Given the description of an element on the screen output the (x, y) to click on. 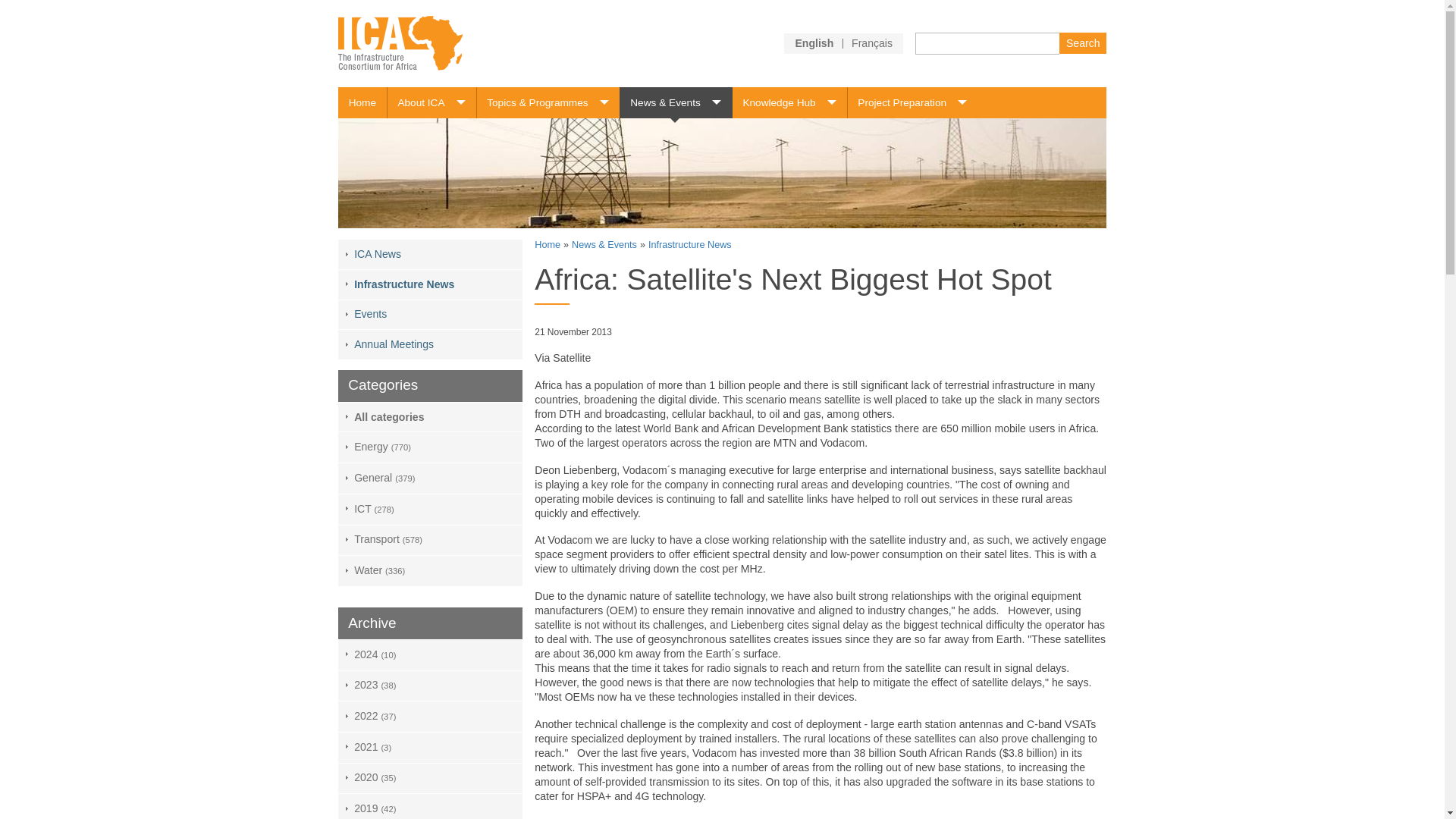
Search (1082, 42)
ICA - The Infrastructure Consortium for Africa (400, 43)
English (813, 43)
Article (813, 43)
Search (1082, 42)
Article (871, 43)
Home (362, 101)
Home (362, 101)
About ICA (431, 101)
About ICA (431, 101)
